Given the description of an element on the screen output the (x, y) to click on. 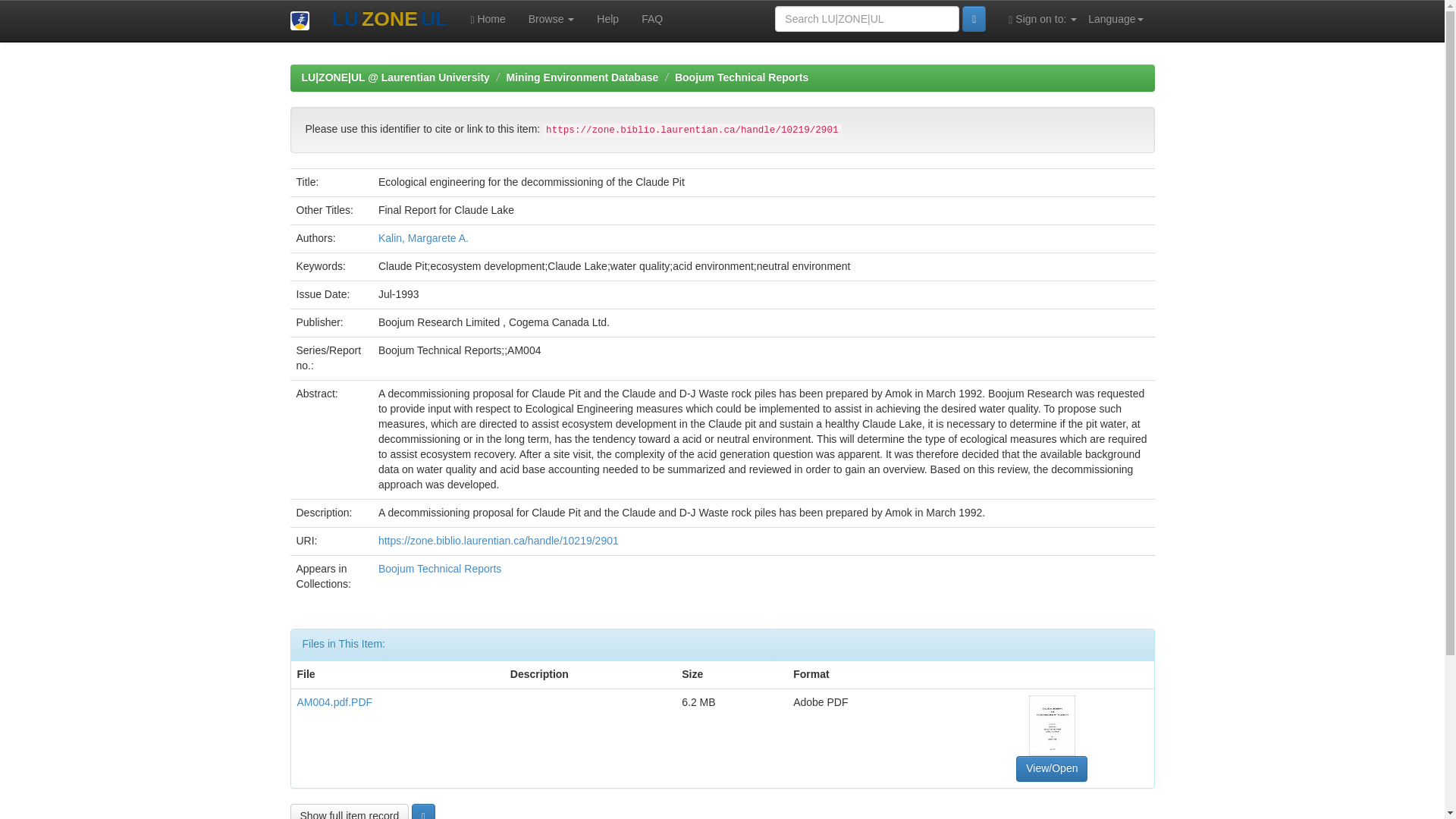
Sign on to: (1042, 18)
FAQ (652, 18)
Browse (551, 18)
Boojum Technical Reports (741, 77)
Show full item record (349, 811)
Help (607, 18)
AM004.pdf.PDF (334, 702)
Boojum Technical Reports (439, 568)
Mining Environment Database (582, 77)
Language (1115, 18)
LU ZONE UL (389, 20)
Kalin, Margarete A. (423, 237)
Home (487, 18)
